Given the description of an element on the screen output the (x, y) to click on. 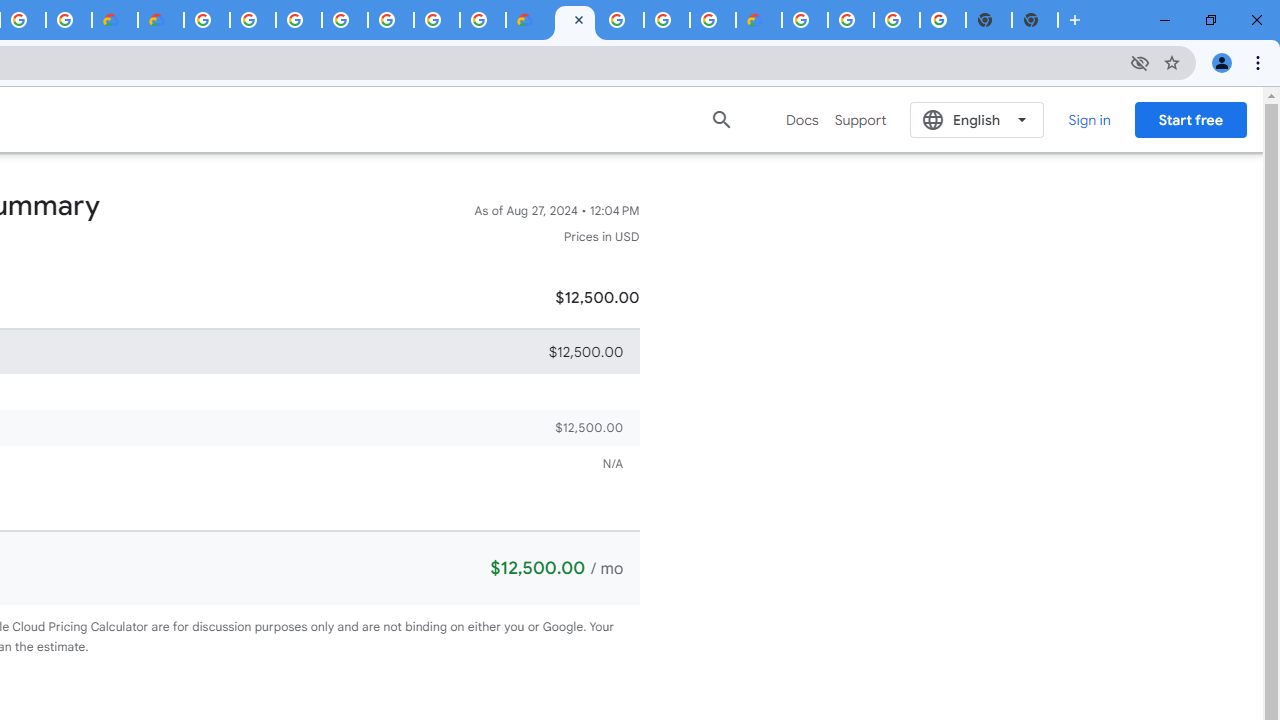
Google Cloud Platform (436, 20)
Google Cloud Platform (851, 20)
Sign in - Google Accounts (299, 20)
Browse Chrome as a guest - Computer - Google Chrome Help (712, 20)
Google Cloud Estimate Summary (574, 20)
Google Cloud Service Health (759, 20)
Google Cloud Platform (805, 20)
Docs (802, 119)
